Given the description of an element on the screen output the (x, y) to click on. 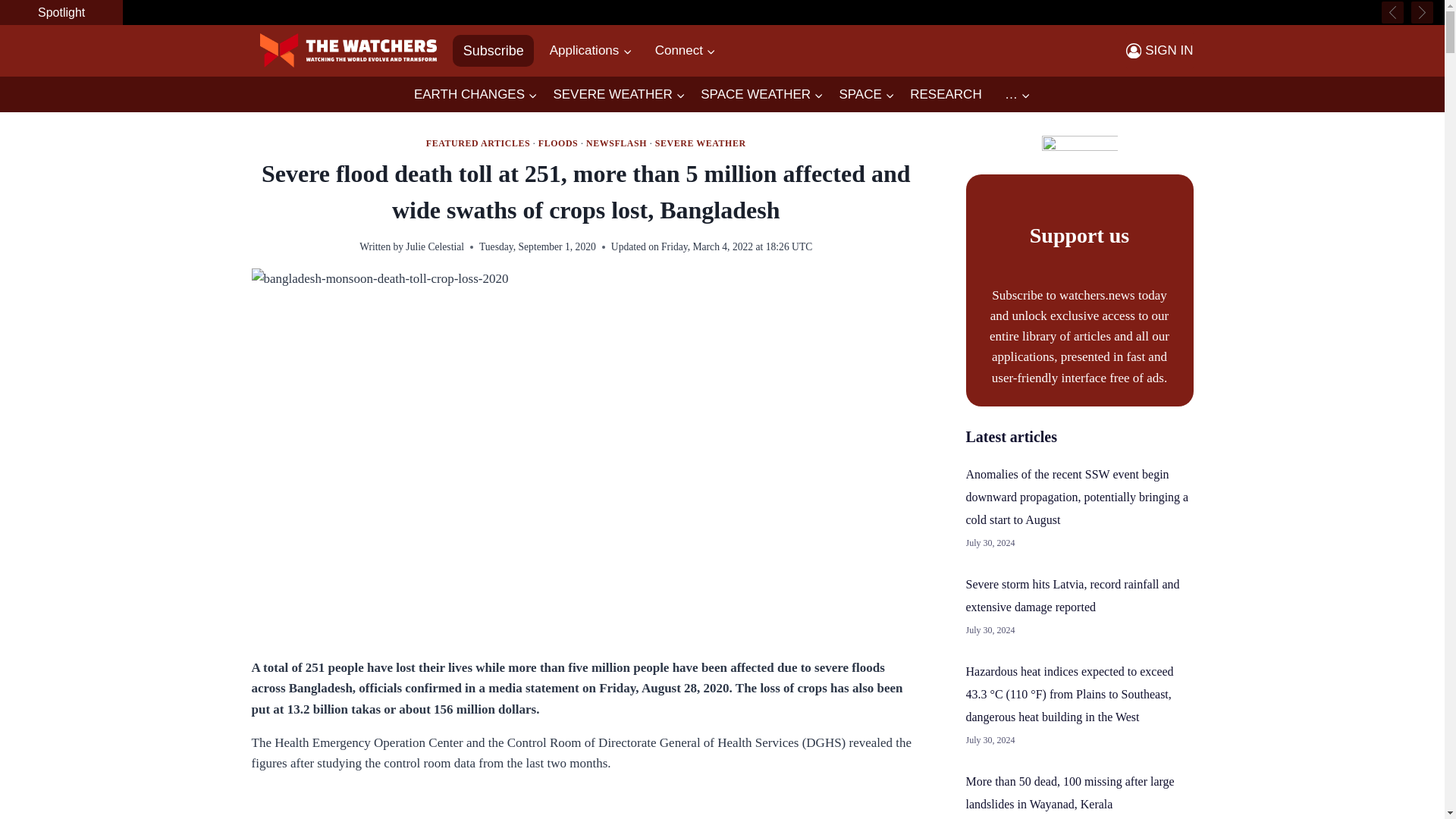
Connect (685, 50)
Applications (590, 50)
EARTH CHANGES (475, 94)
Subscribe (493, 50)
SIGN IN (1159, 50)
